Given the description of an element on the screen output the (x, y) to click on. 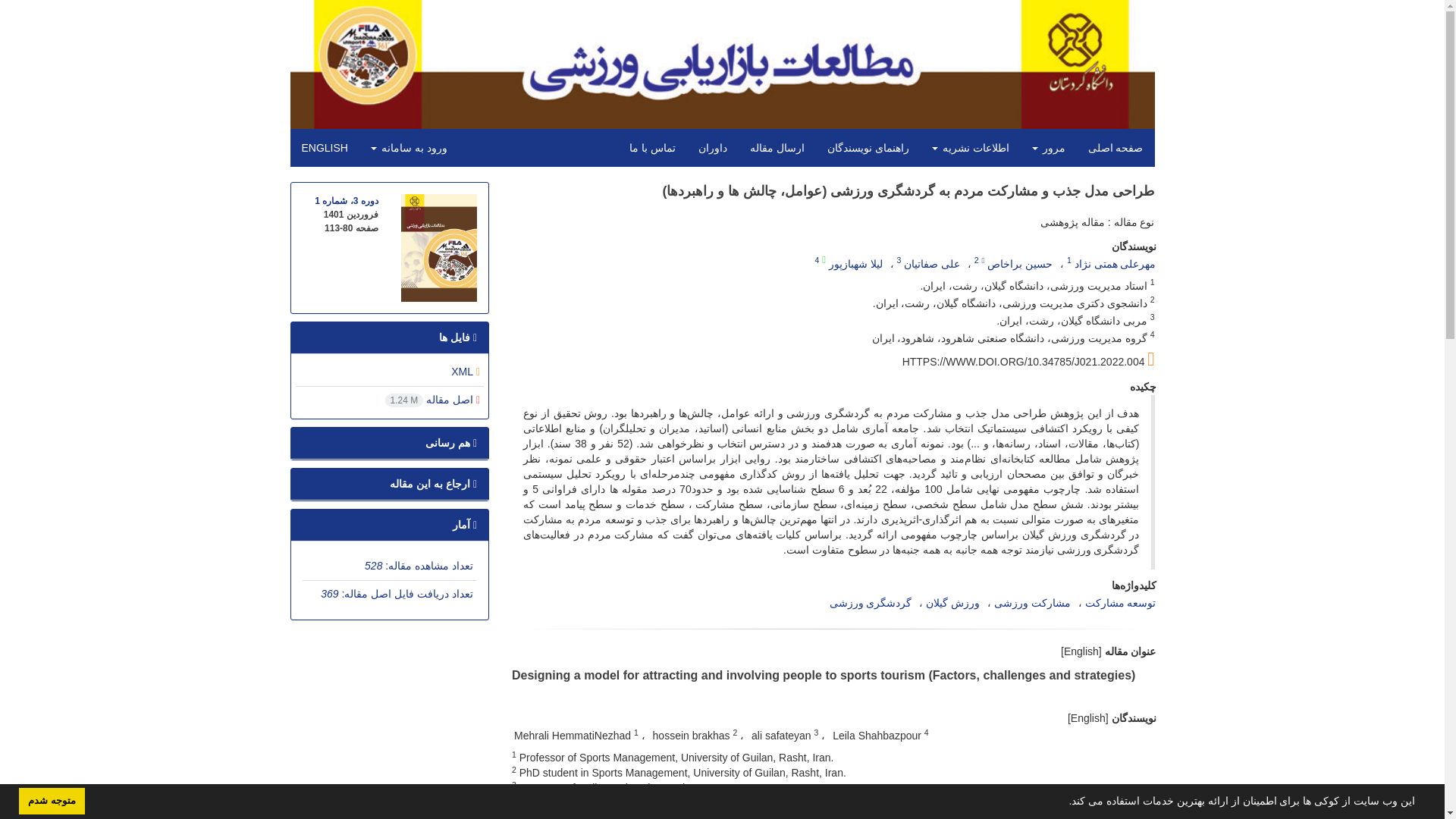
4 (815, 259)
2 (976, 259)
3 (898, 259)
1 (1069, 259)
ENGLISH (323, 147)
